Given the description of an element on the screen output the (x, y) to click on. 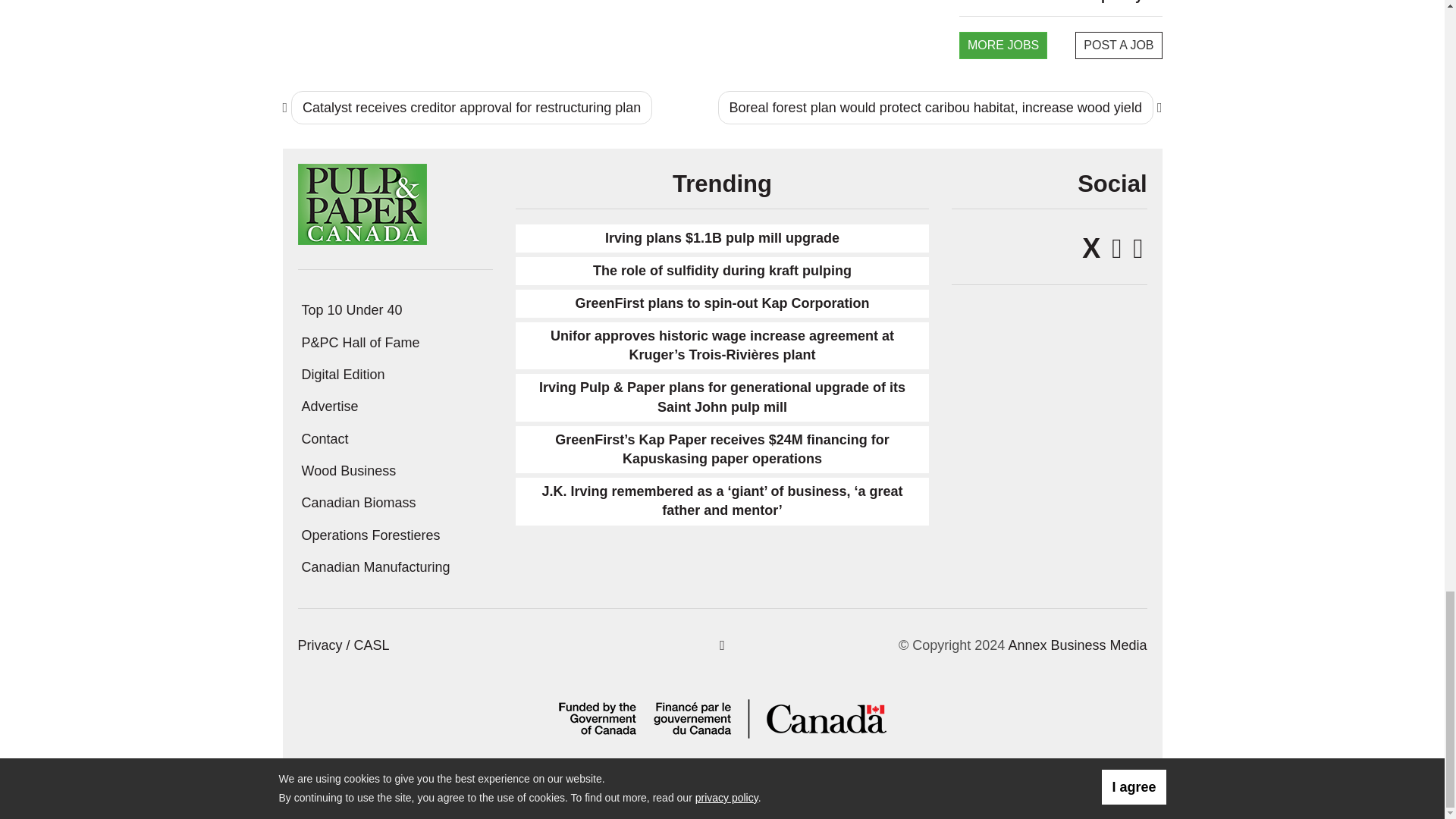
Pulp and Paper Canada (361, 202)
Annex Business Media (1077, 645)
